Given the description of an element on the screen output the (x, y) to click on. 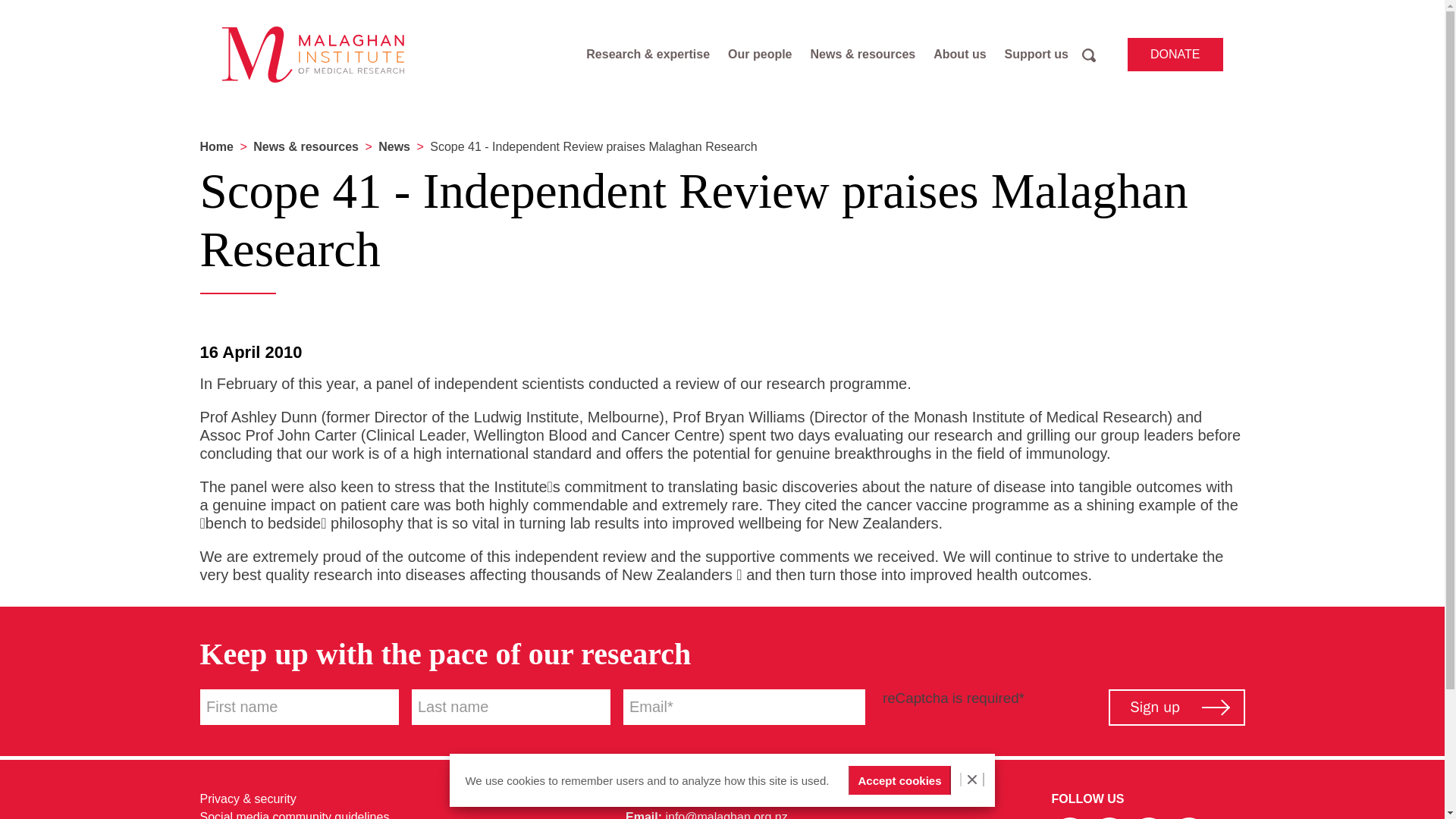
Our people (760, 54)
Accept cookies (899, 779)
